Given the description of an element on the screen output the (x, y) to click on. 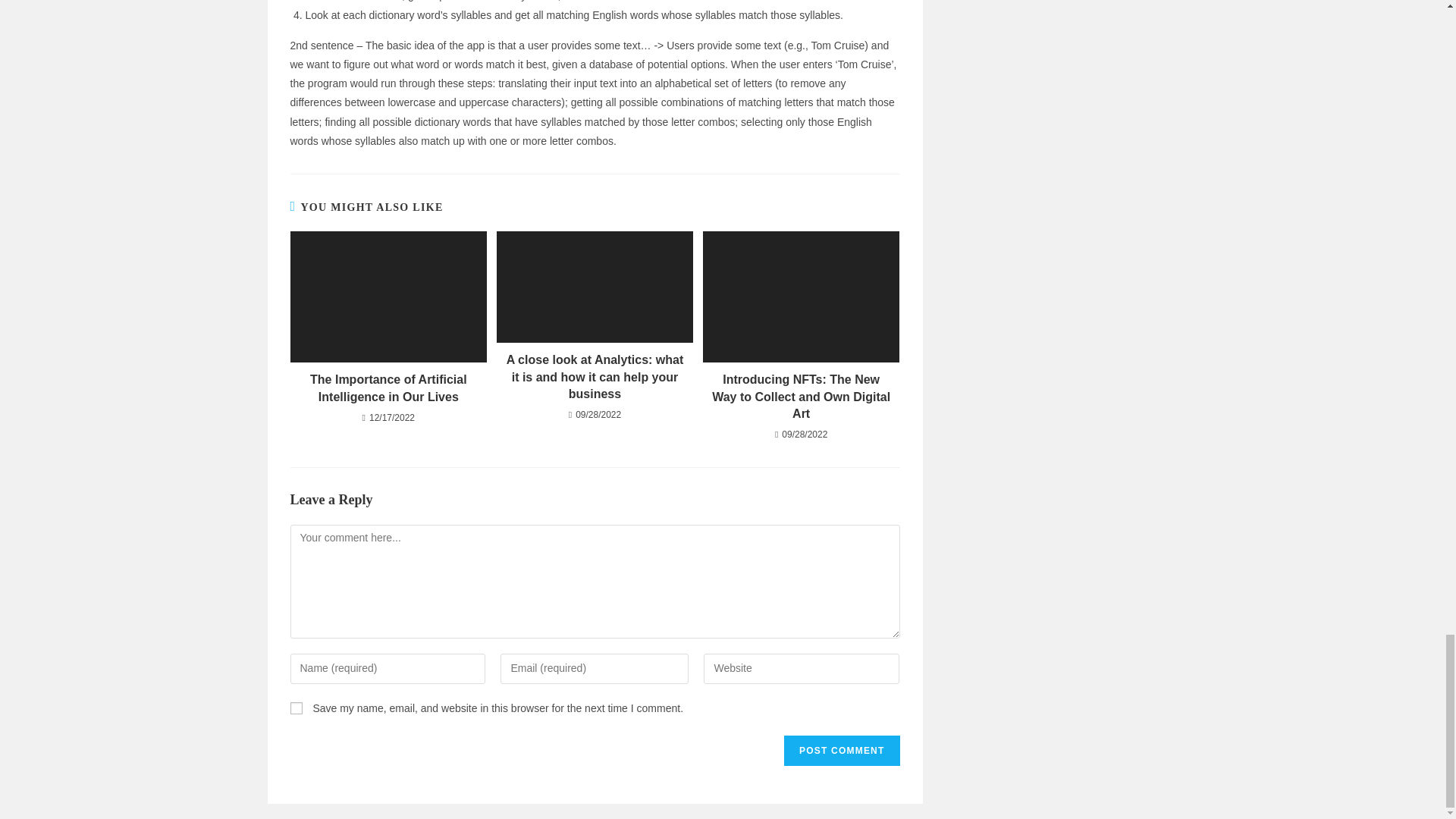
The Importance of Artificial Intelligence in Our Lives (387, 388)
yes (295, 707)
Post Comment (841, 750)
Introducing NFTs: The New Way to Collect and Own Digital Art (801, 396)
Post Comment (841, 750)
